Given the description of an element on the screen output the (x, y) to click on. 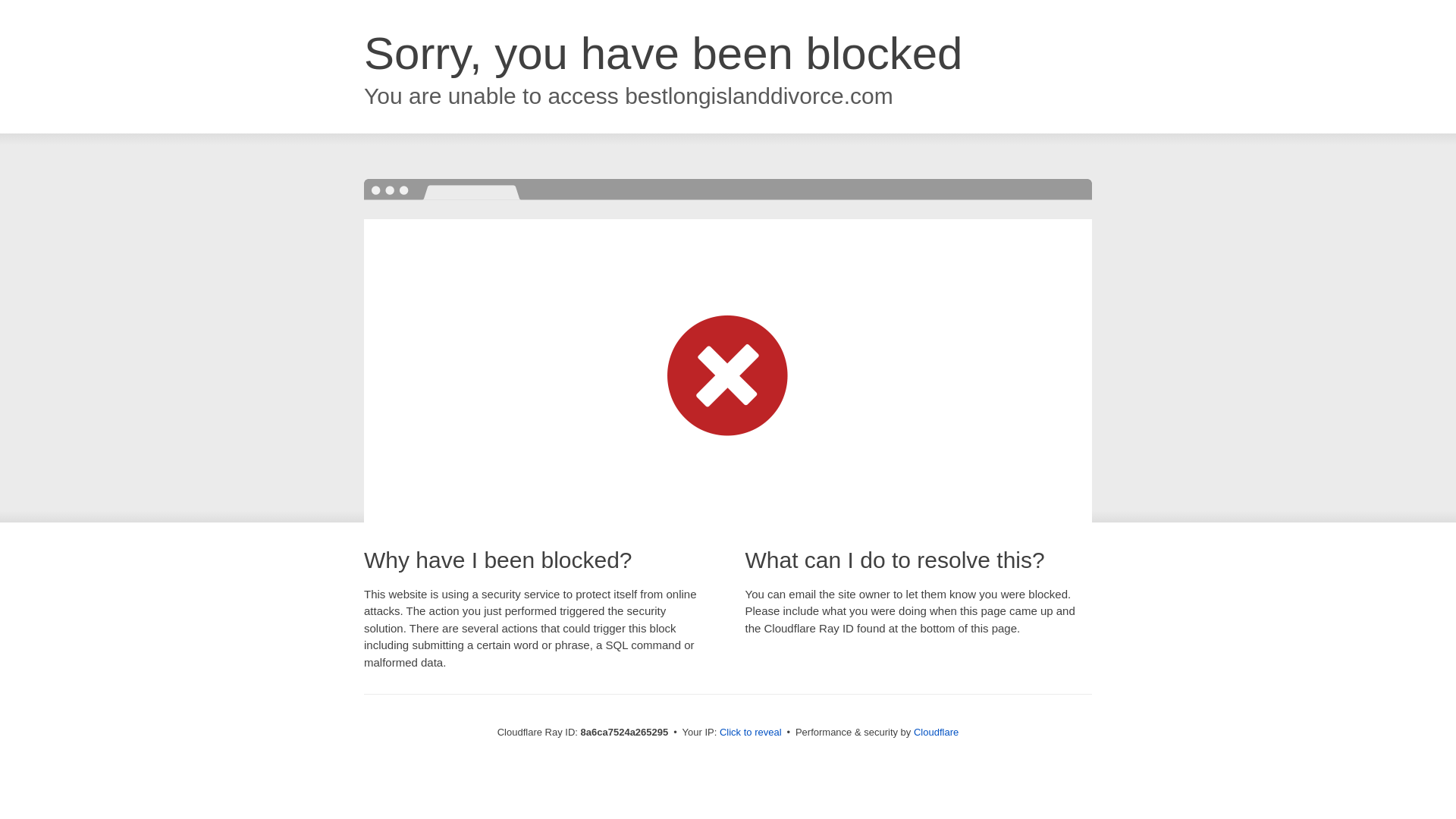
Click to reveal (750, 732)
Cloudflare (936, 731)
